Given the description of an element on the screen output the (x, y) to click on. 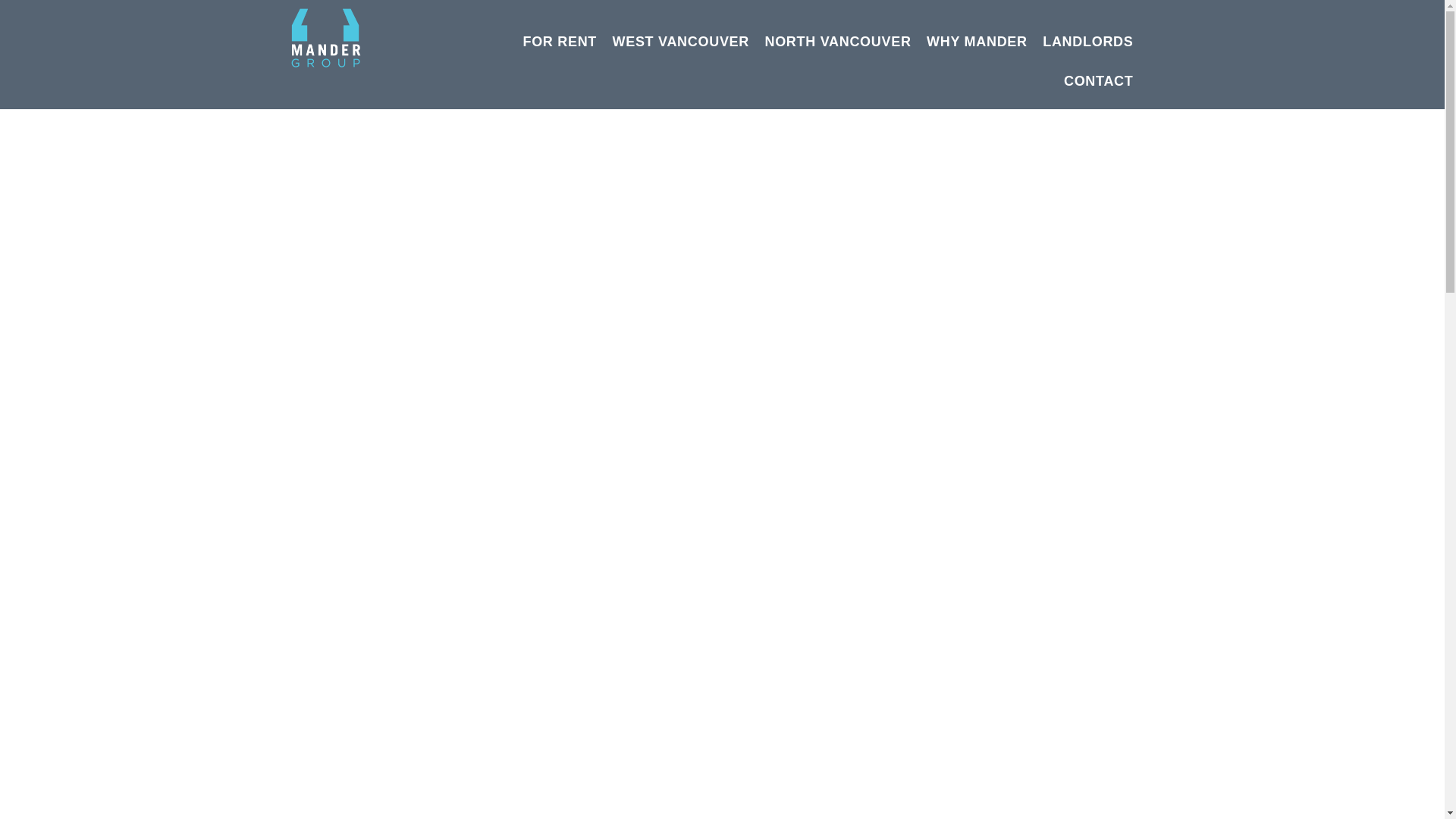
CONTACT (1099, 81)
MANDER GROUP WEST VANCOUVER RENTALS (325, 37)
FOR RENT (559, 42)
WHY MANDER (976, 42)
WEST VANCOUVER (680, 42)
LANDLORDS (1087, 42)
NORTH VANCOUVER (837, 42)
